Given the description of an element on the screen output the (x, y) to click on. 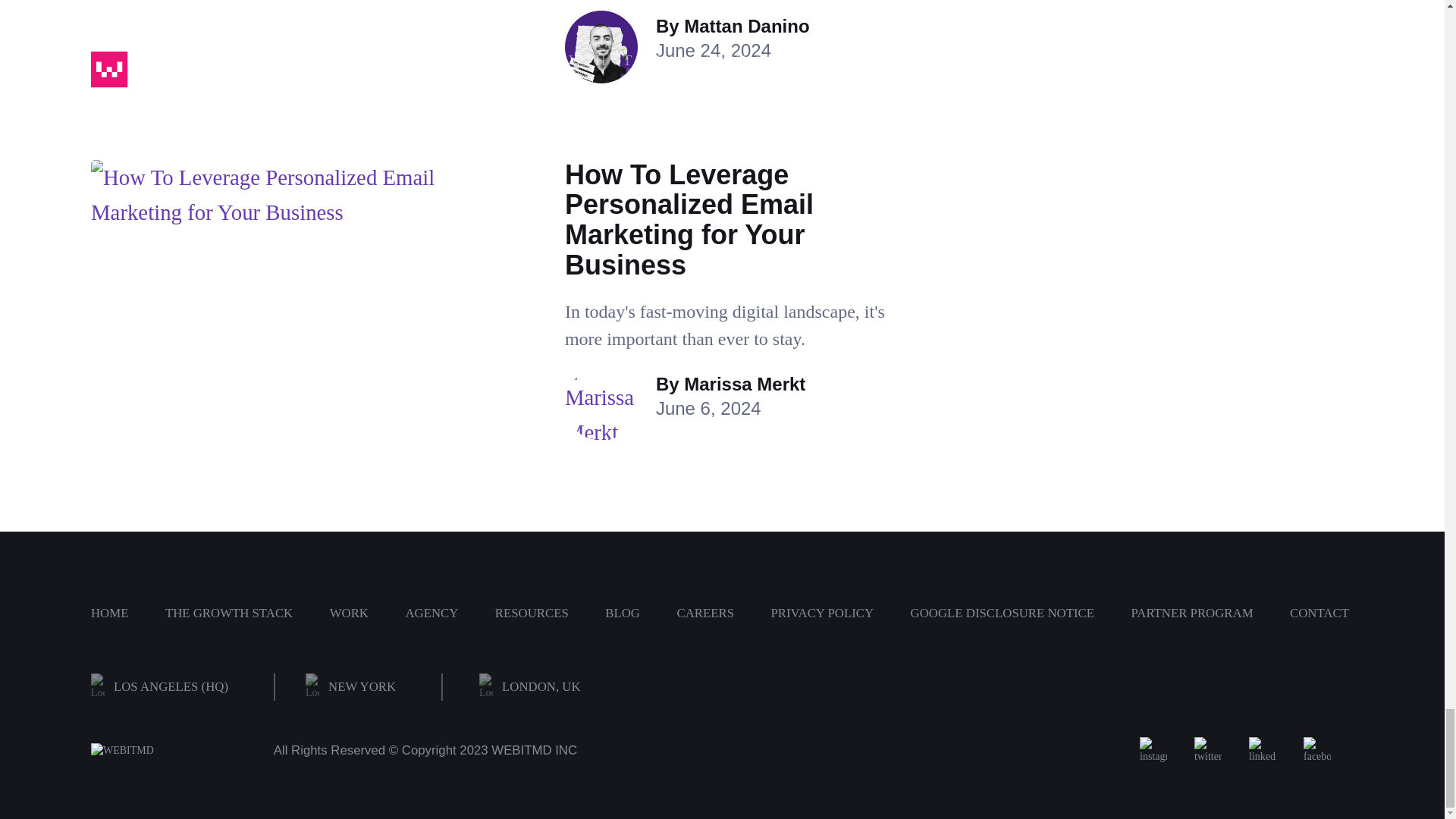
WEBITMD (163, 750)
